Given the description of an element on the screen output the (x, y) to click on. 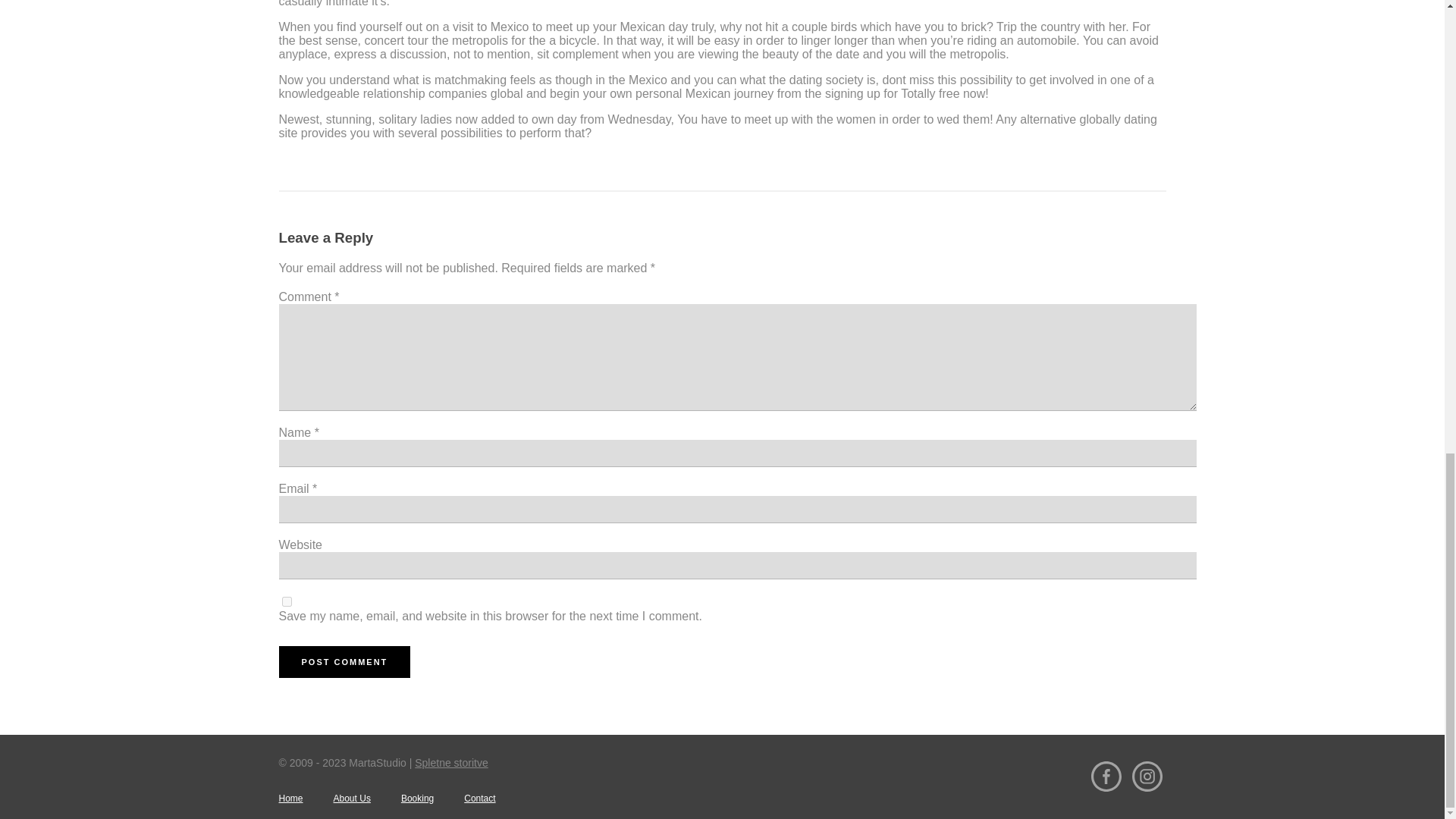
Contact (479, 797)
Spletne storitve (450, 761)
Post Comment (344, 661)
yes (287, 601)
Post Comment (344, 661)
About Us (352, 797)
Booking (417, 797)
Home (290, 797)
